Given the description of an element on the screen output the (x, y) to click on. 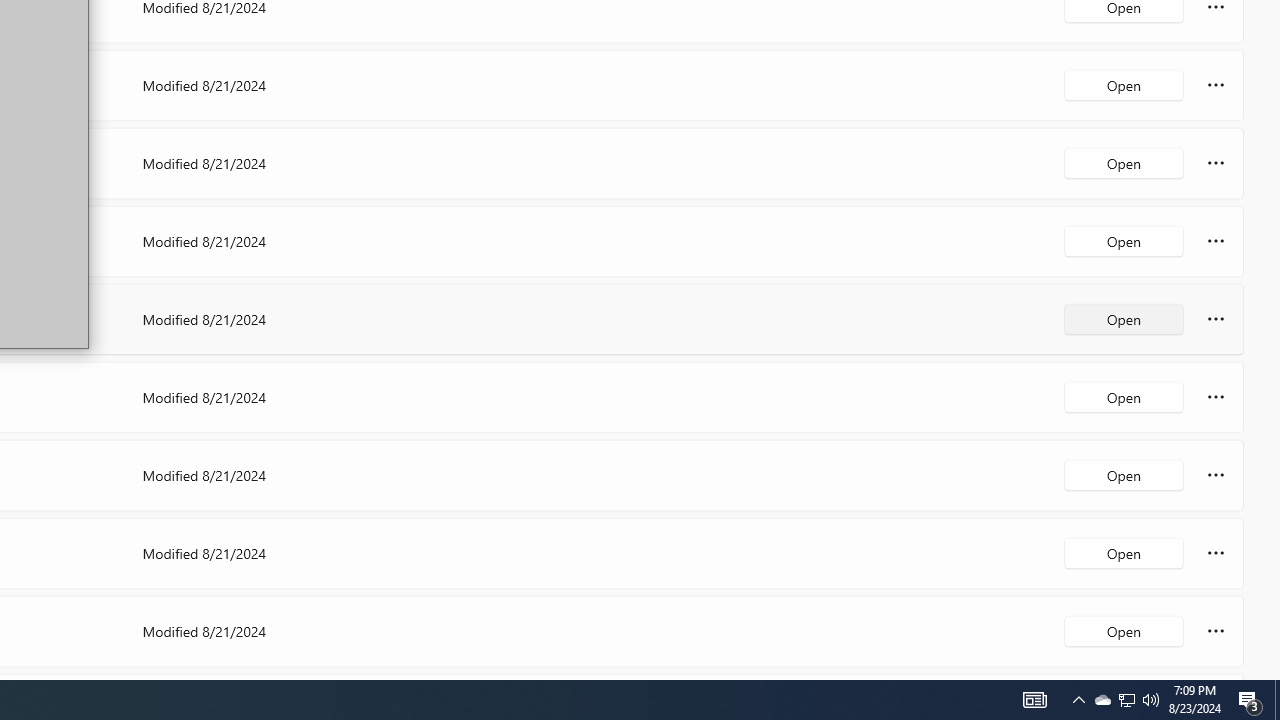
Open (1126, 699)
Action Center, 3 new notifications (1123, 630)
Q2790: 100% (1102, 699)
User Promoted Notification Area (1250, 699)
Show desktop (1151, 699)
AutomationID: 4105 (1126, 699)
More options (1277, 699)
Notification Chevron (1034, 699)
